Given the description of an element on the screen output the (x, y) to click on. 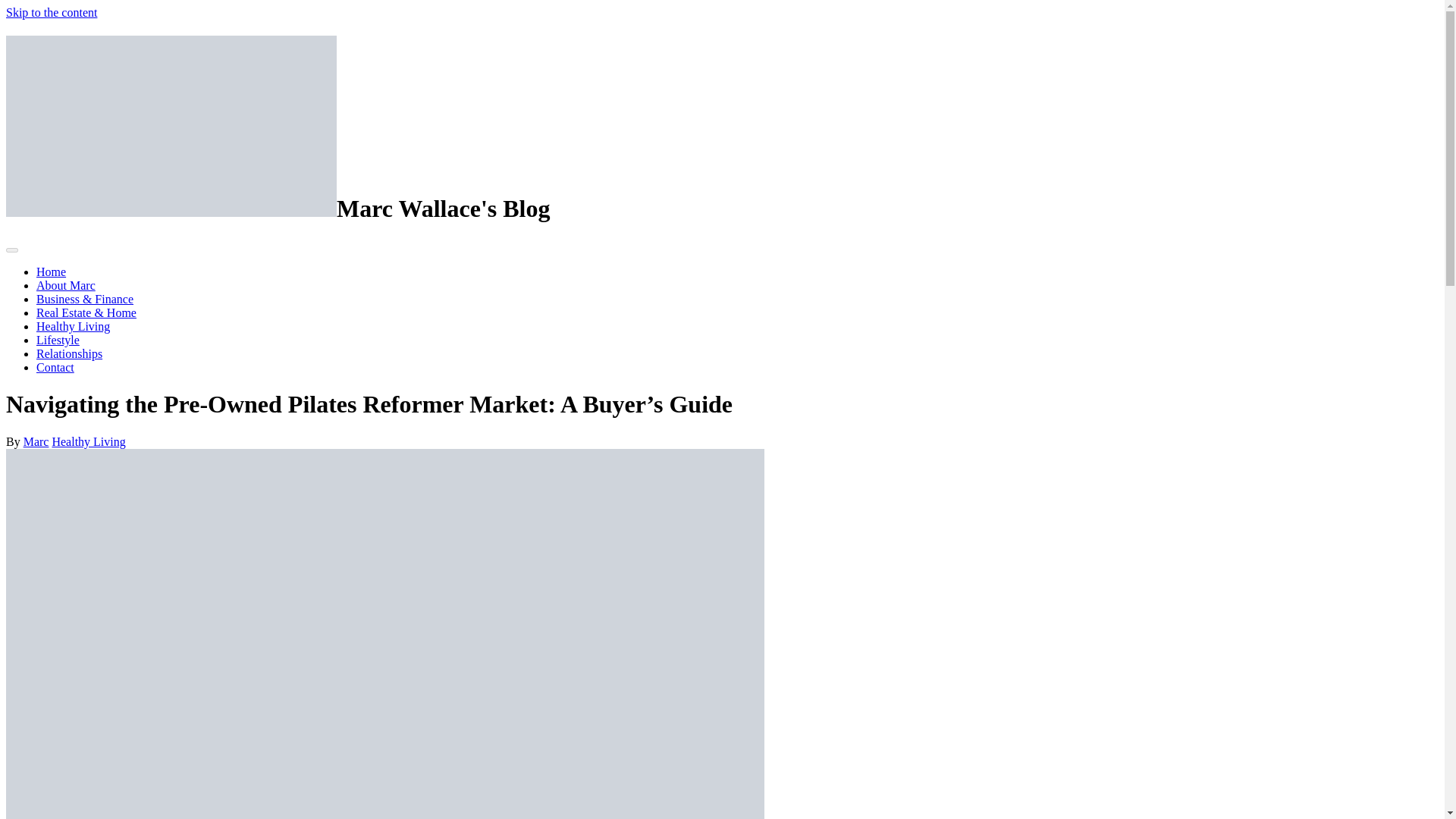
Skip to the content (51, 11)
Lifestyle (58, 339)
Contact (55, 367)
Relationships (68, 353)
Home (50, 271)
About Marc (66, 285)
Healthy Living (73, 326)
Healthy Living (87, 440)
Marc (36, 440)
